Given the description of an element on the screen output the (x, y) to click on. 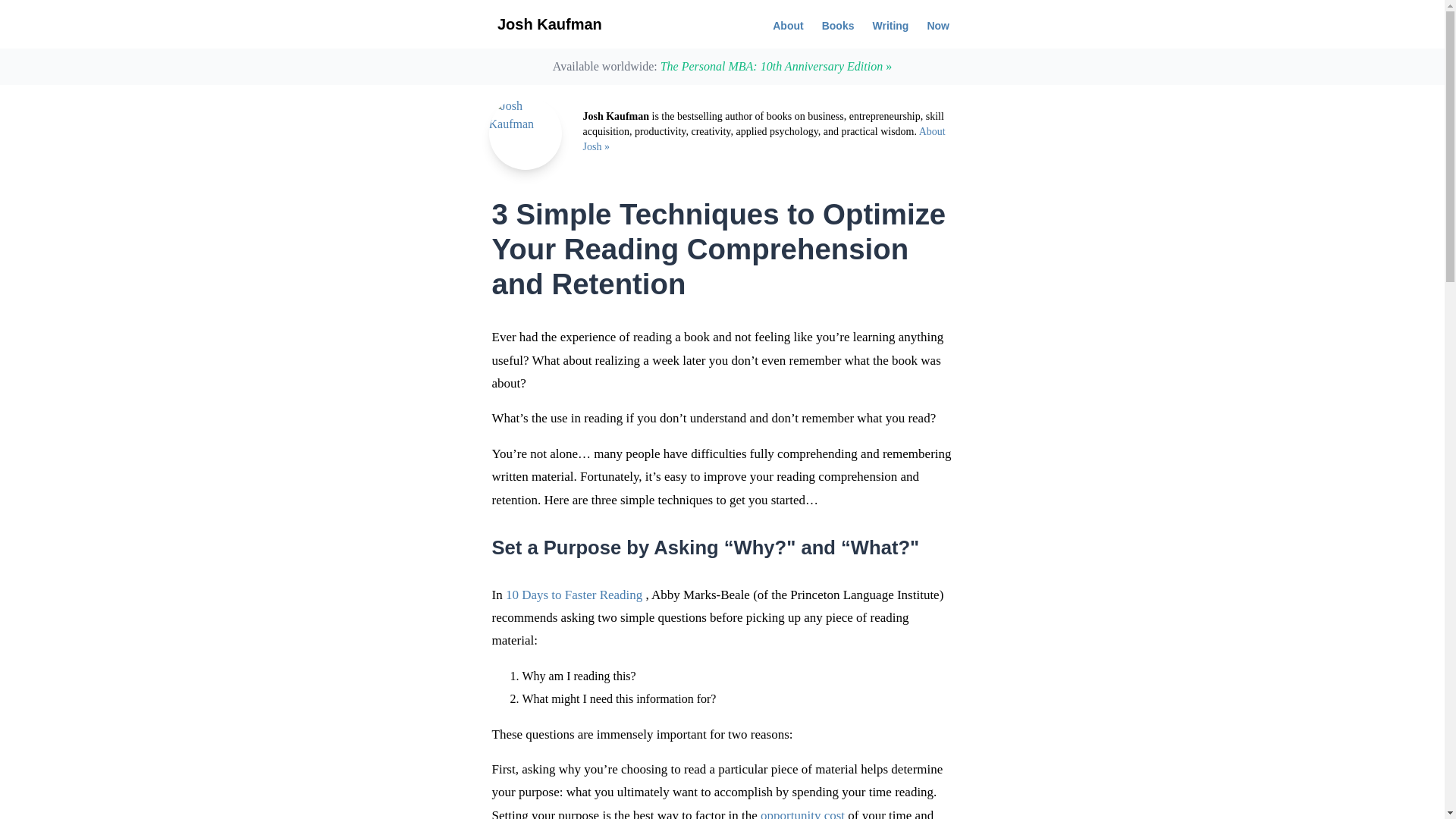
10 Days to Faster Reading (573, 594)
Now (937, 24)
Books (837, 24)
About (787, 24)
opportunity cost (802, 813)
Writing (890, 24)
Josh Kaufman (549, 24)
